Given the description of an element on the screen output the (x, y) to click on. 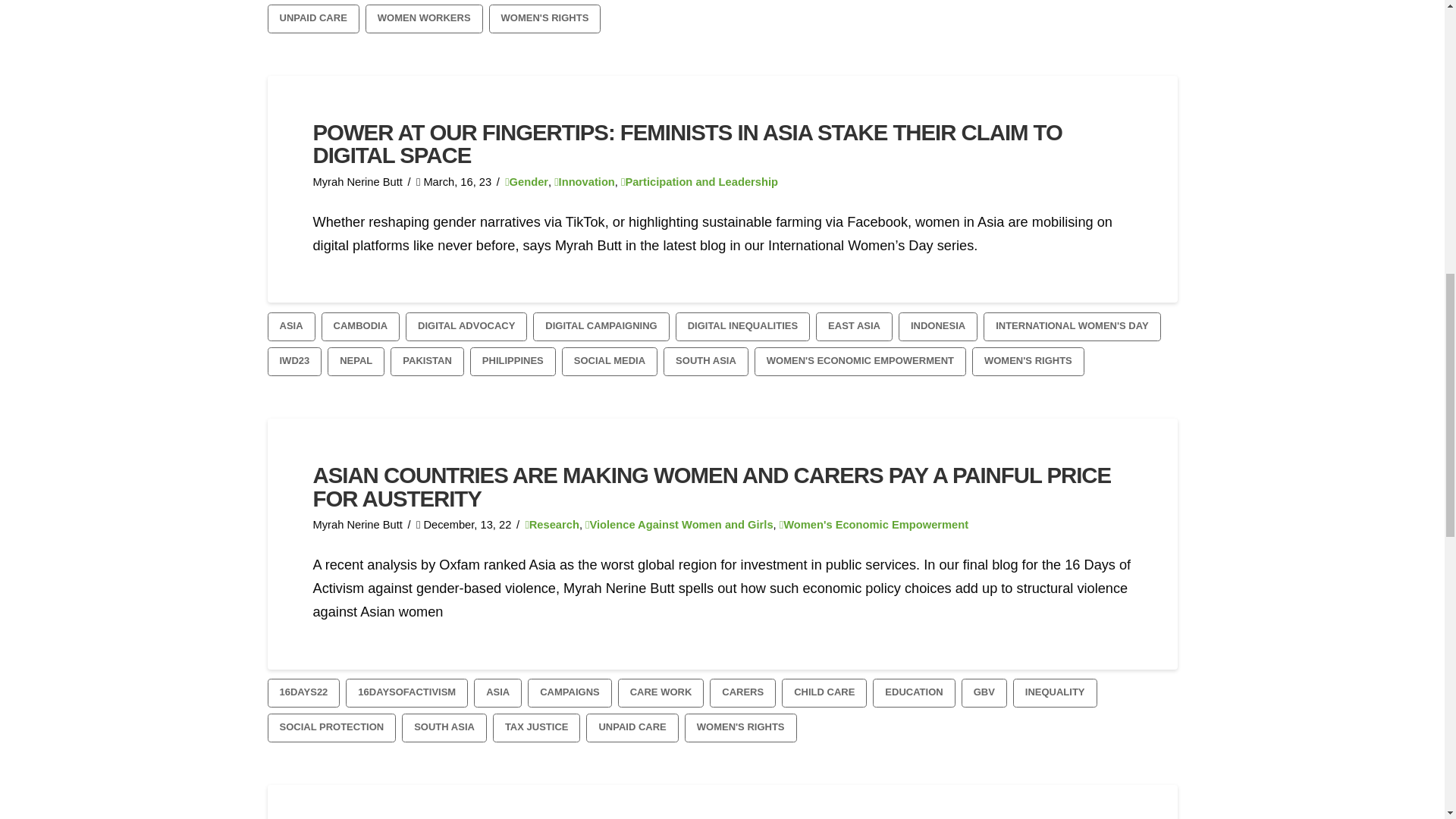
WOMEN'S RIGHTS (545, 18)
WOMEN WORKERS (424, 18)
UNPAID CARE (312, 18)
